Given the description of an element on the screen output the (x, y) to click on. 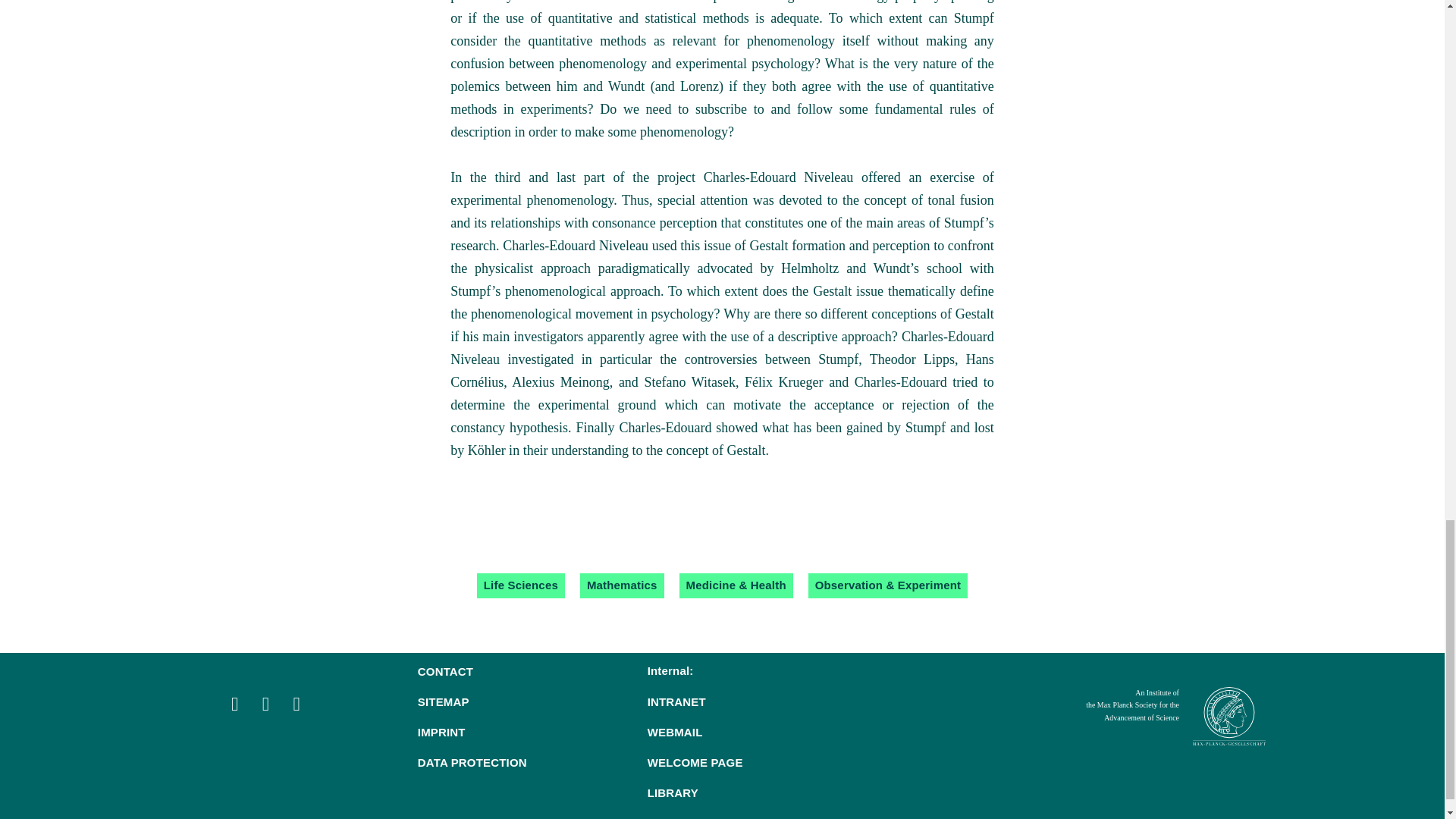
Like Us on Facebook (267, 706)
Follow Us on YouTube (295, 706)
